Given the description of an element on the screen output the (x, y) to click on. 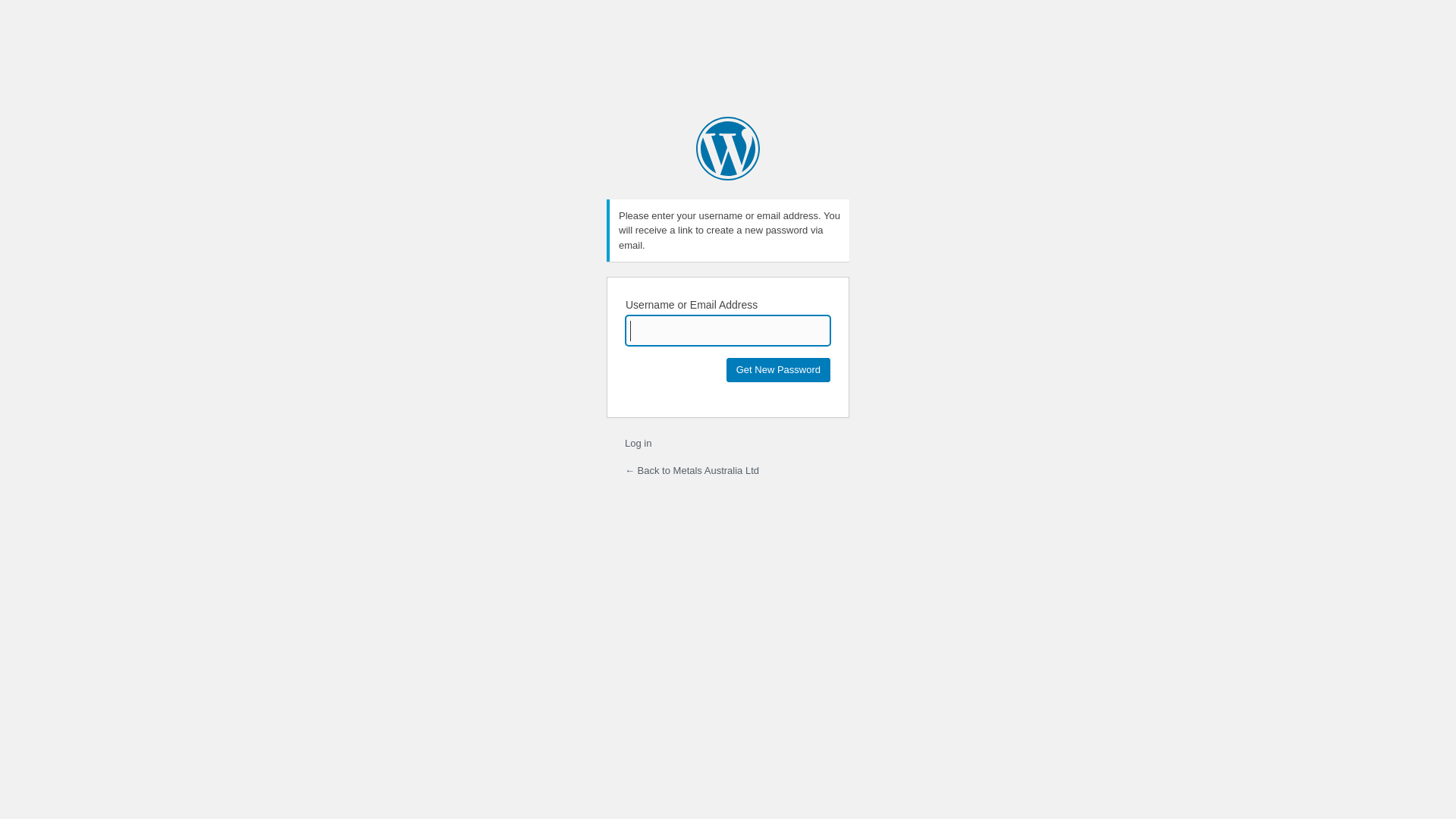
Log in Element type: text (637, 442)
Powered by WordPress Element type: text (727, 148)
Get New Password Element type: text (778, 369)
